Given the description of an element on the screen output the (x, y) to click on. 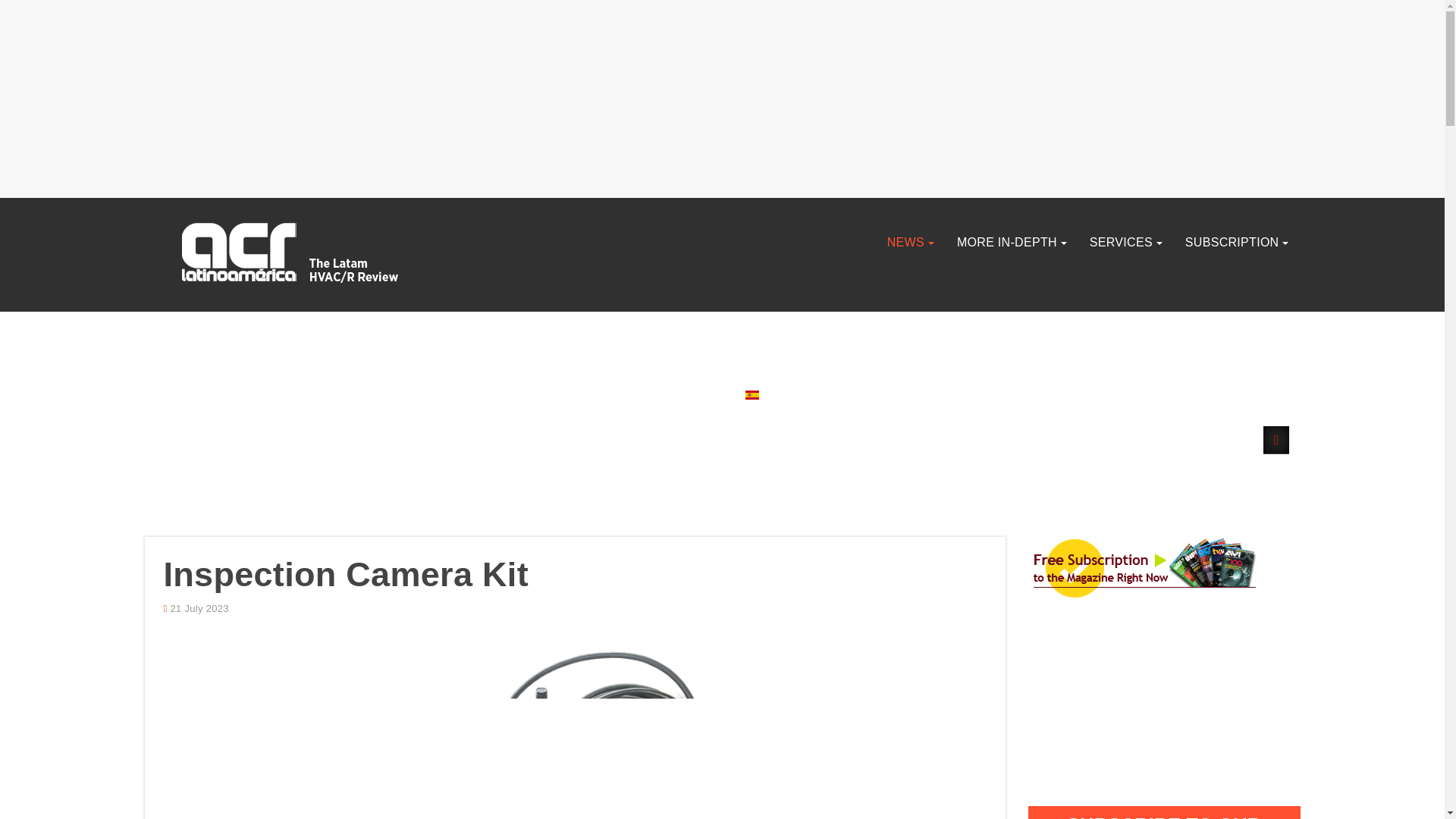
Inspection Camera Kit (345, 574)
Inspection Camera Kit (345, 574)
Account (1275, 439)
Published:  (195, 608)
